Given the description of an element on the screen output the (x, y) to click on. 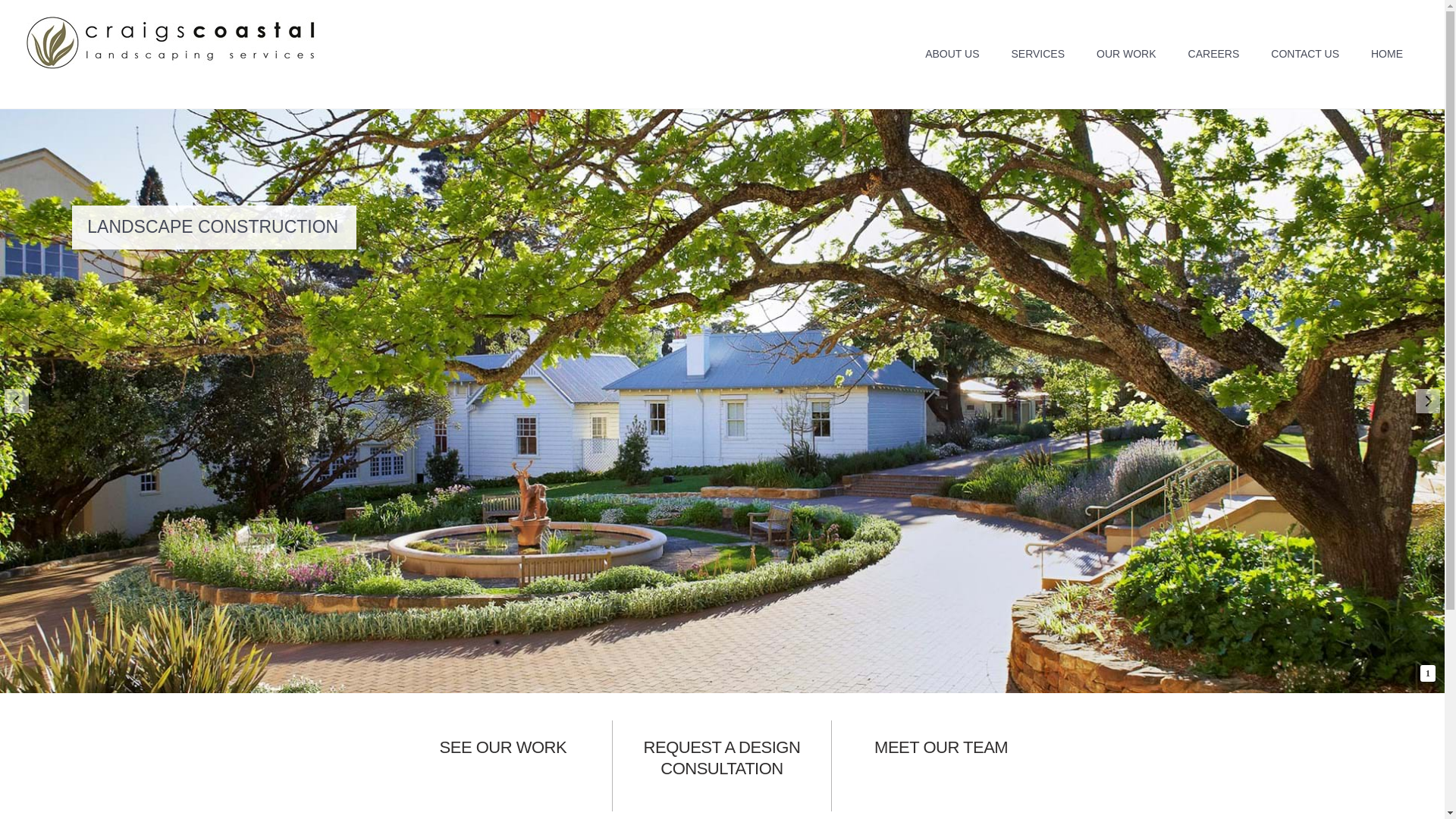
HOME Element type: text (1386, 54)
REQUEST A DESIGN
CONSULTATION Element type: text (721, 757)
CONTACT US Element type: text (1304, 54)
OUR WORK Element type: text (1126, 54)
SEE OUR WORK Element type: text (503, 746)
MEET OUR TEAM Element type: text (940, 746)
CAREERS Element type: text (1214, 54)
SERVICES Element type: text (1037, 54)
ABOUT US Element type: text (952, 54)
